Given the description of an element on the screen output the (x, y) to click on. 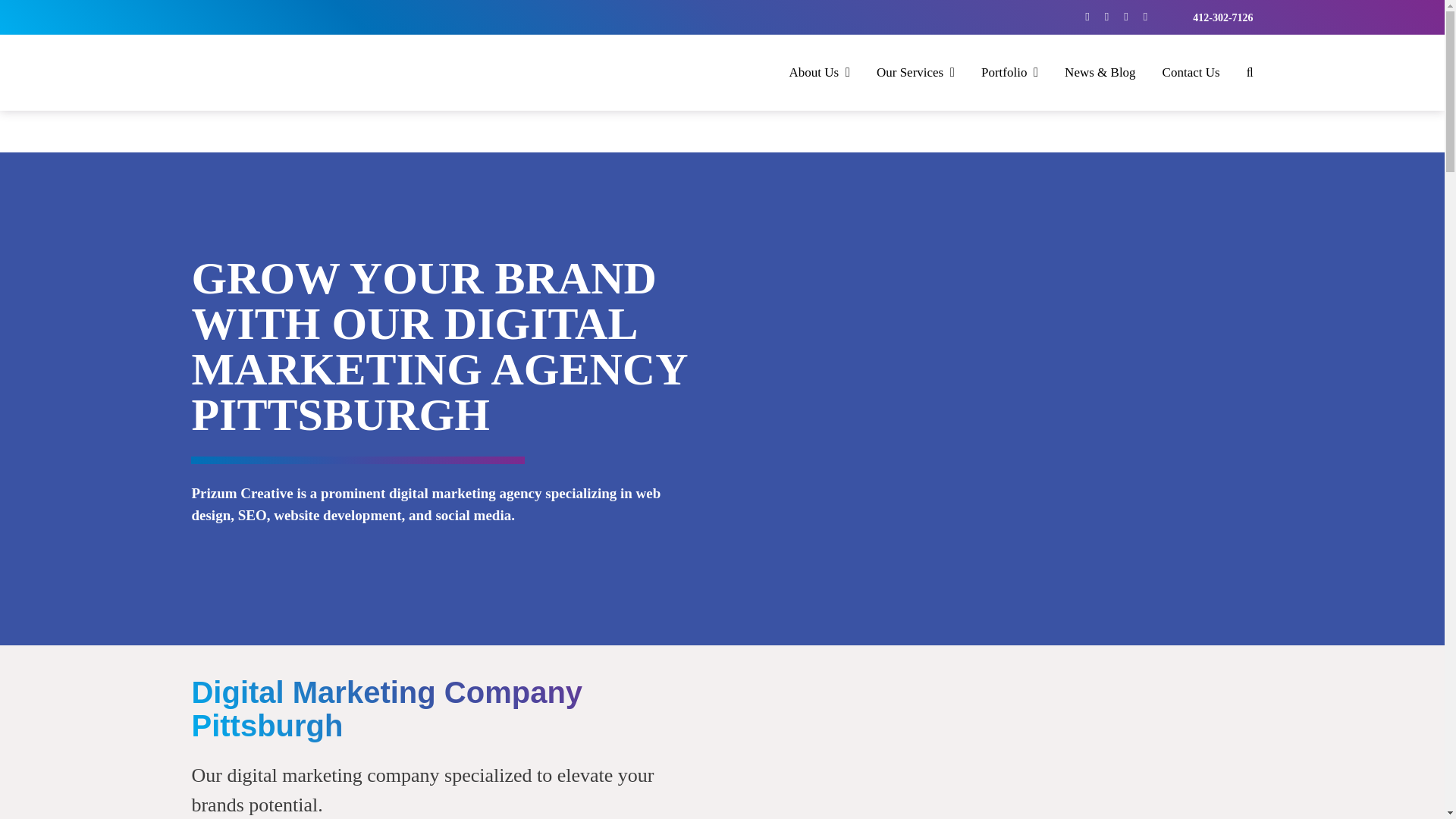
About Us (819, 72)
Our Services (915, 72)
Contact Us (1190, 72)
video-placeholder (997, 746)
Portfolio (1009, 72)
2020-best-of-the-best (997, 391)
412-302-7126 (1222, 17)
